Given the description of an element on the screen output the (x, y) to click on. 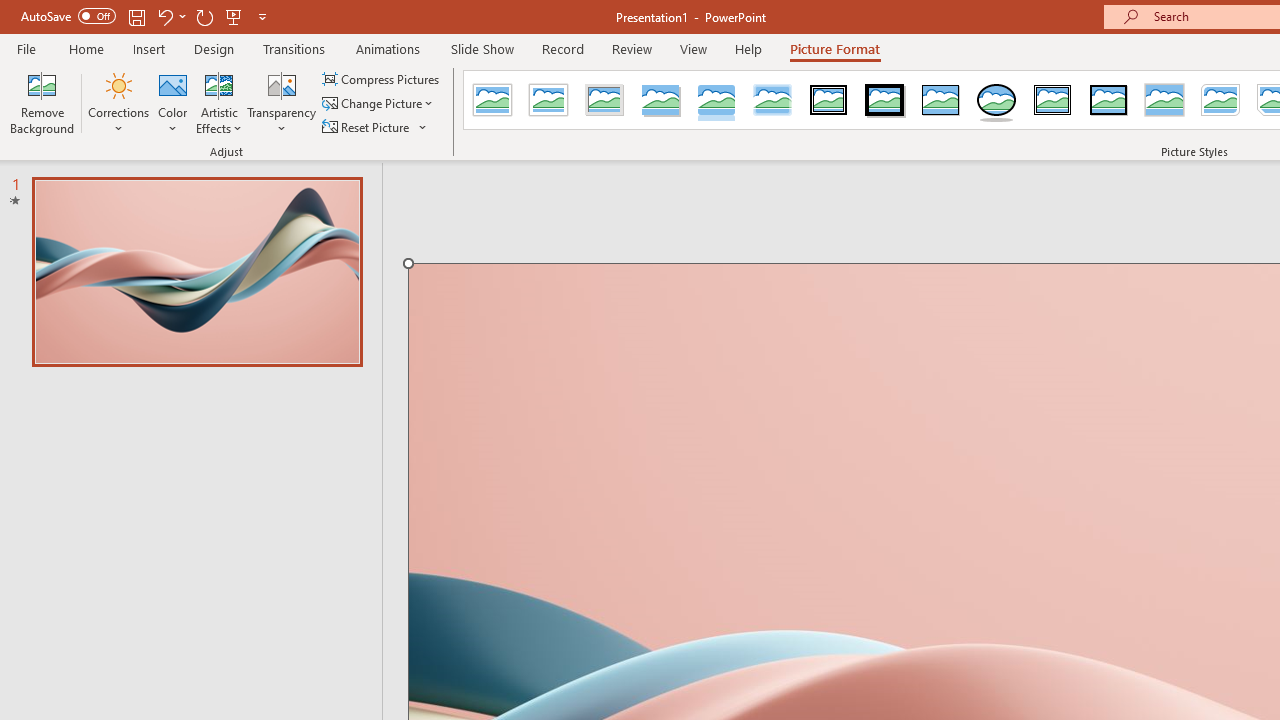
Compound Frame, Black (1053, 100)
Reset Picture (375, 126)
Thick Matte, Black (884, 100)
Beveled Oval, Black (996, 100)
Metal Frame (605, 100)
Soft Edge Rectangle (772, 100)
Remove Background (41, 102)
Simple Frame, White (492, 100)
Artistic Effects (219, 102)
Corrections (118, 102)
